Given the description of an element on the screen output the (x, y) to click on. 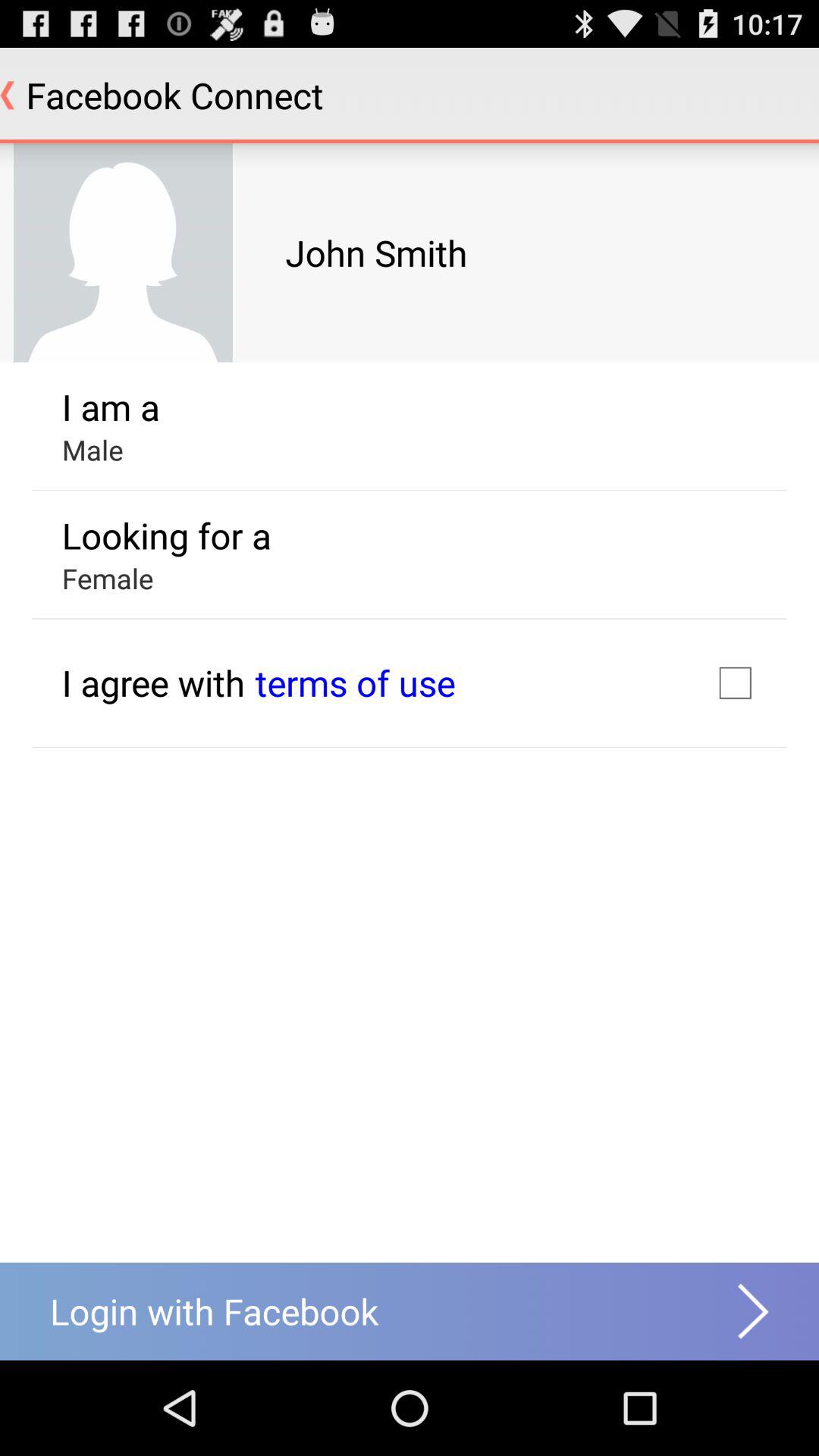
tap the item next to the terms of use (153, 682)
